Given the description of an element on the screen output the (x, y) to click on. 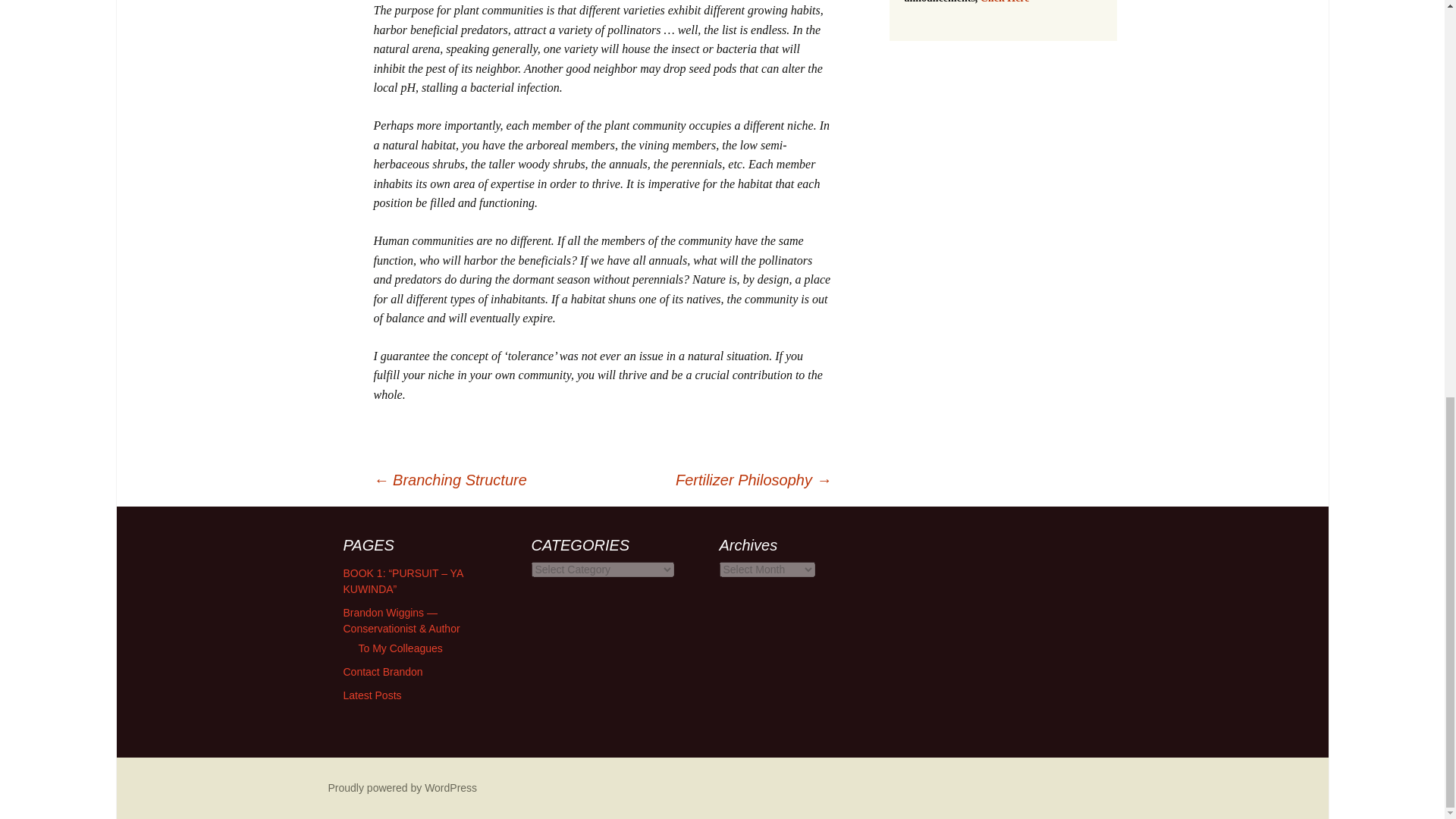
Contact Brandon (382, 671)
Proudly powered by WordPress (402, 787)
Click Here (1004, 2)
Latest Posts (371, 695)
To My Colleagues (400, 648)
